Given the description of an element on the screen output the (x, y) to click on. 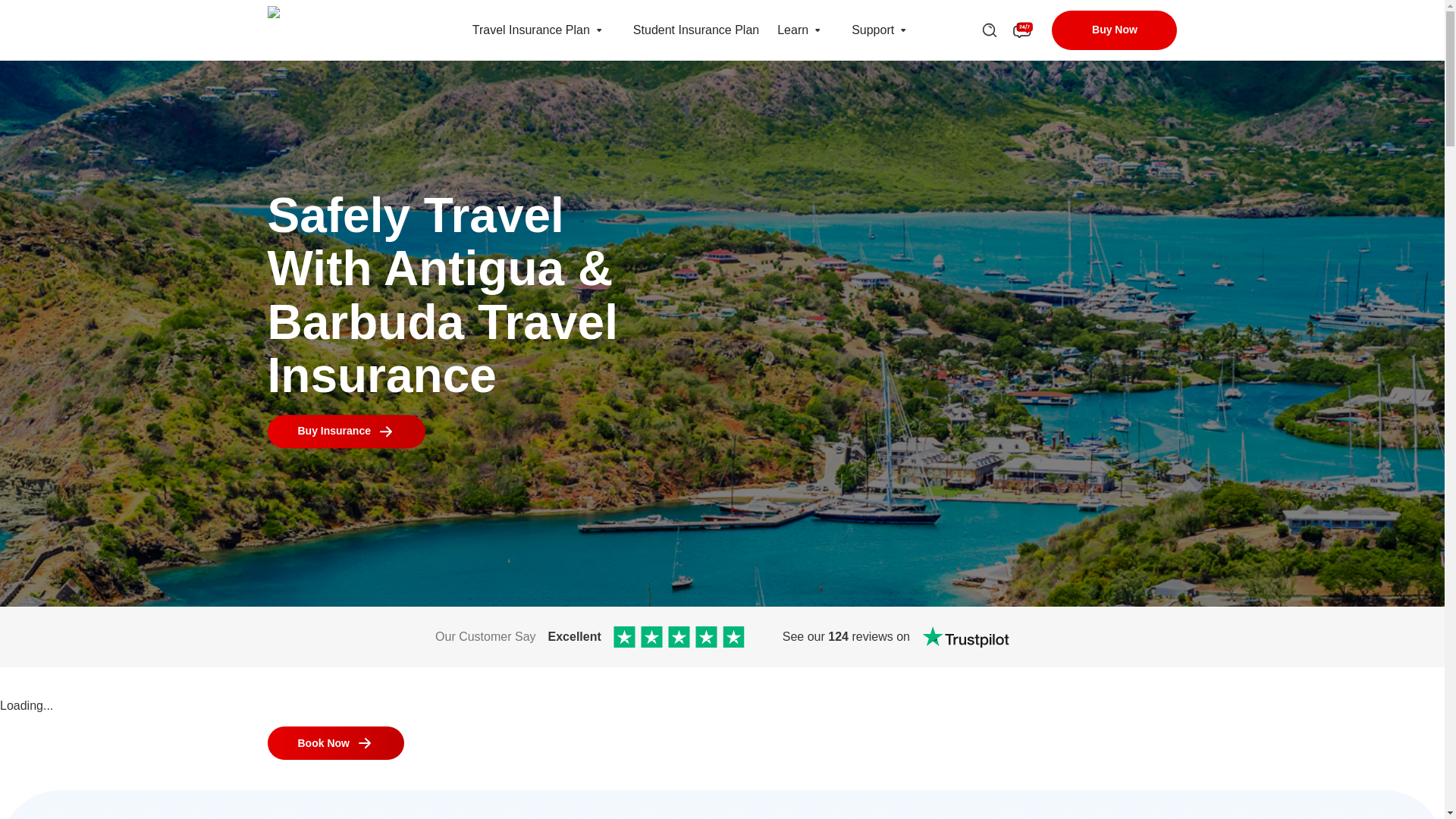
Support (902, 30)
Learn (792, 30)
Student Insurance Plan (695, 30)
Learn (792, 30)
Travel Insurance Plan (598, 30)
Learn (817, 30)
Travelner (339, 29)
Buy Now (1113, 29)
Buy Insurance (345, 430)
Travel Insurance Plan (530, 30)
Travel Insurance Plan (530, 30)
Student Insurance Plan (695, 30)
Support (872, 30)
Support (872, 30)
